Given the description of an element on the screen output the (x, y) to click on. 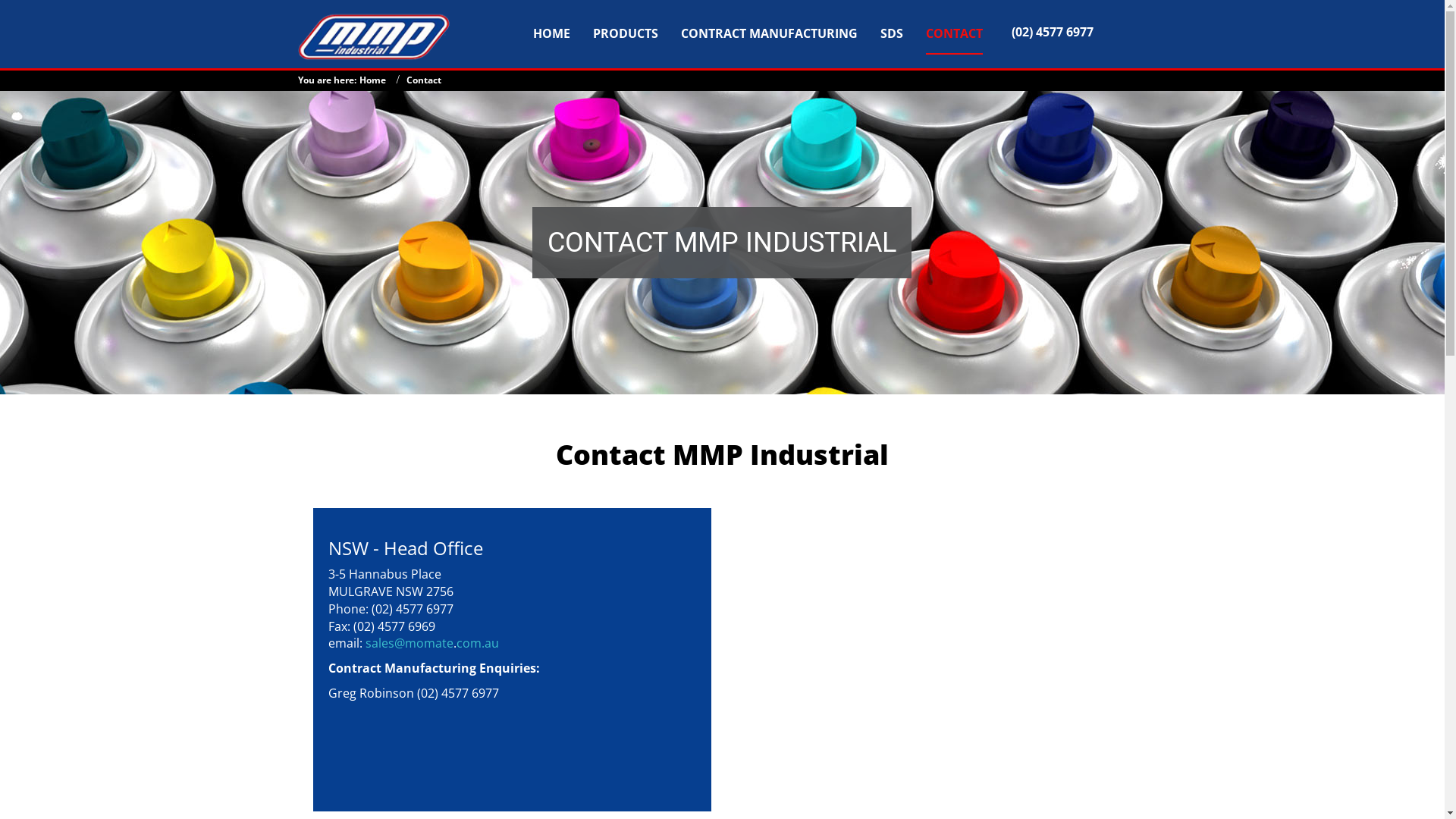
sales@momate Element type: text (409, 642)
Home Element type: text (372, 79)
HOME Element type: text (551, 30)
SDS Element type: text (891, 30)
PRODUCTS Element type: text (625, 30)
CONTRACT MANUFACTURING Element type: text (768, 30)
com.au Element type: text (477, 642)
CONTACT Element type: text (953, 30)
